Given the description of an element on the screen output the (x, y) to click on. 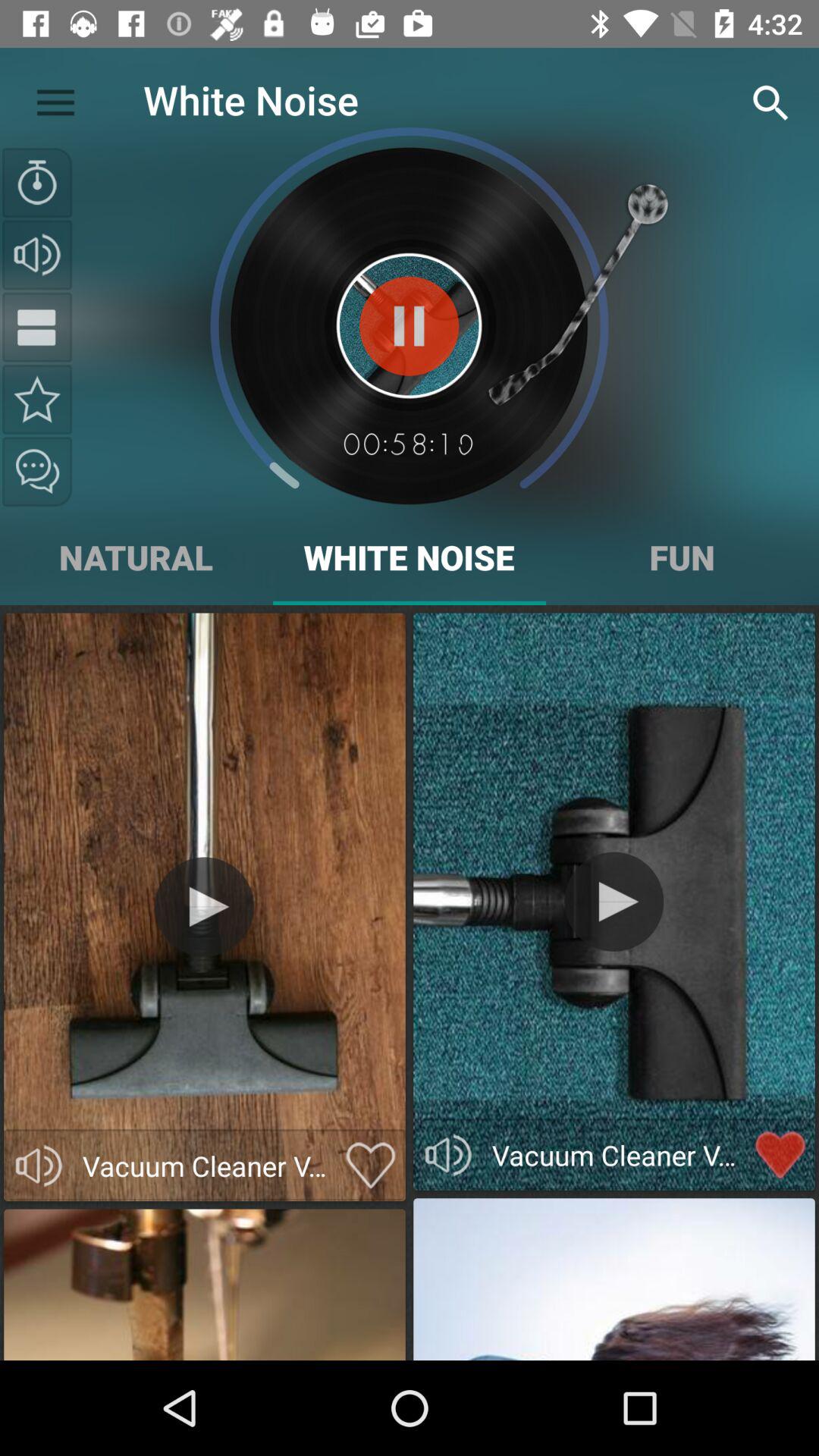
open a chat (37, 471)
